Given the description of an element on the screen output the (x, y) to click on. 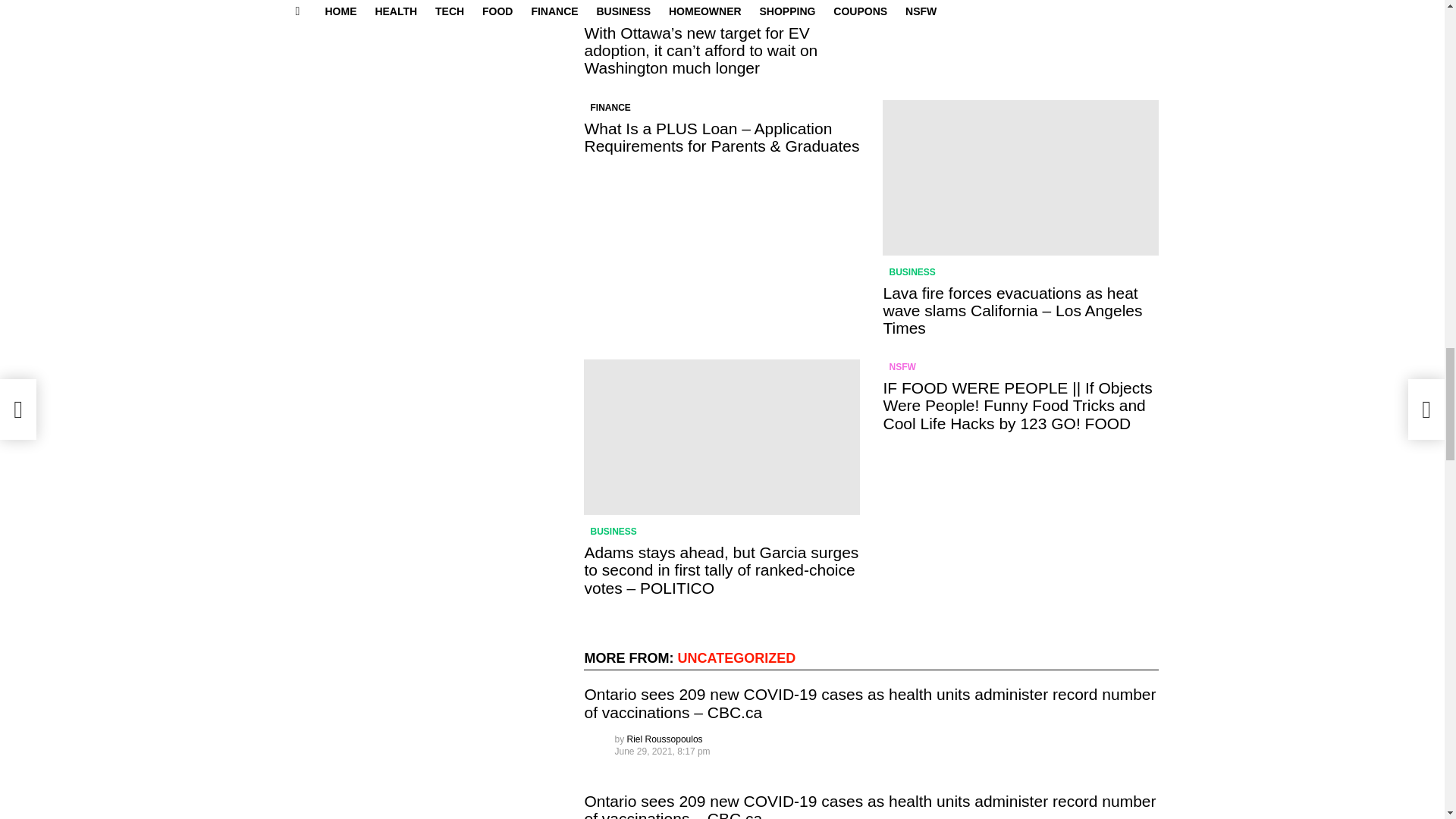
BUSINESS (612, 531)
Posts by Riel Roussopoulos (665, 738)
BUSINESS (911, 272)
FINANCE (609, 107)
BUSINESS (612, 11)
